Given the description of an element on the screen output the (x, y) to click on. 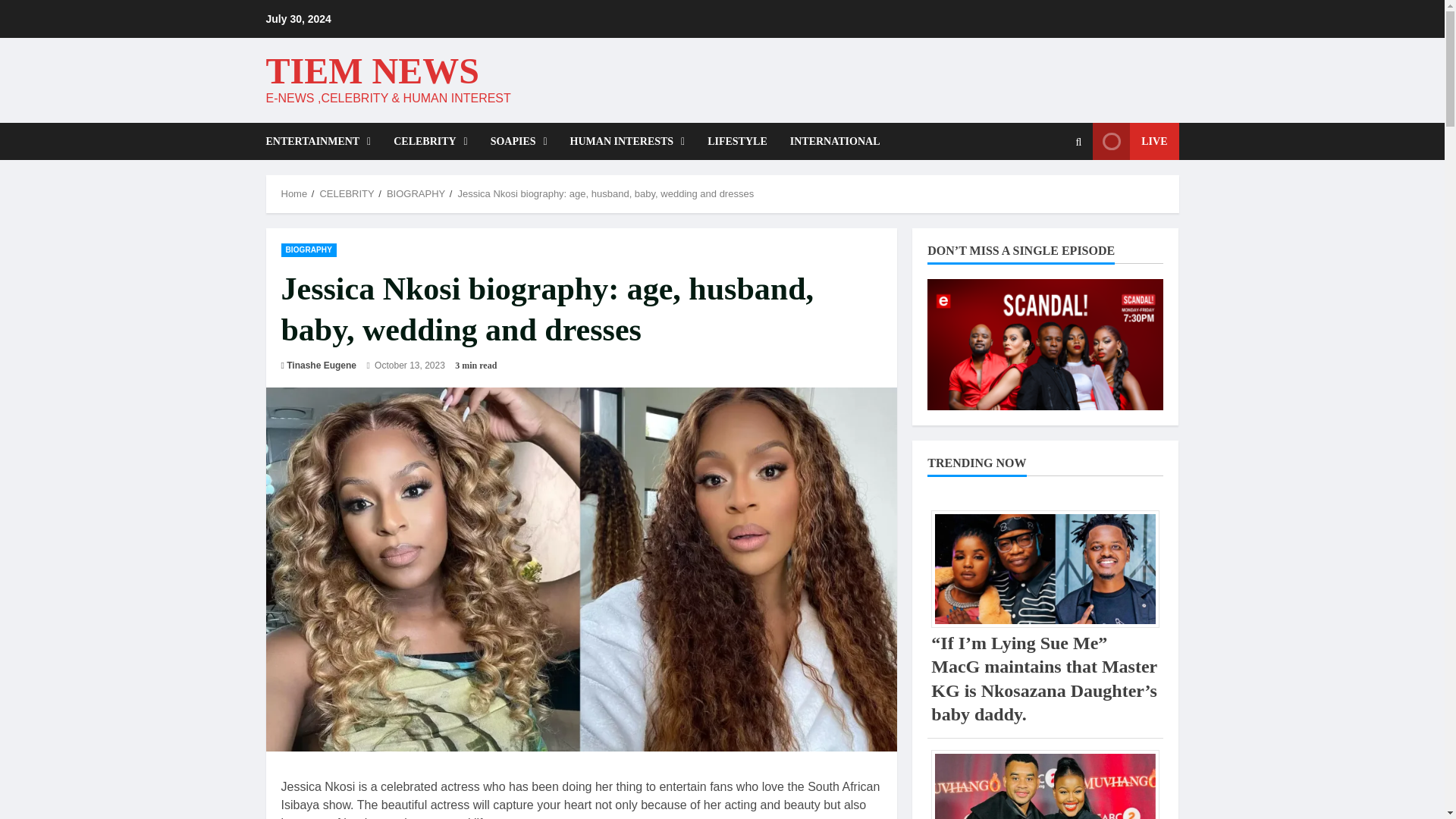
Home (294, 193)
TIEM NEWS (371, 70)
ENTERTAINMENT (322, 140)
CELEBRITY (346, 193)
Search (1042, 193)
INTERNATIONAL (829, 140)
HUMAN INTERESTS (628, 140)
Tinashe Eugene (321, 365)
LIFESTYLE (736, 140)
CELEBRITY (430, 140)
SOAPIES (519, 140)
BIOGRAPHY (416, 193)
BIOGRAPHY (308, 249)
